Given the description of an element on the screen output the (x, y) to click on. 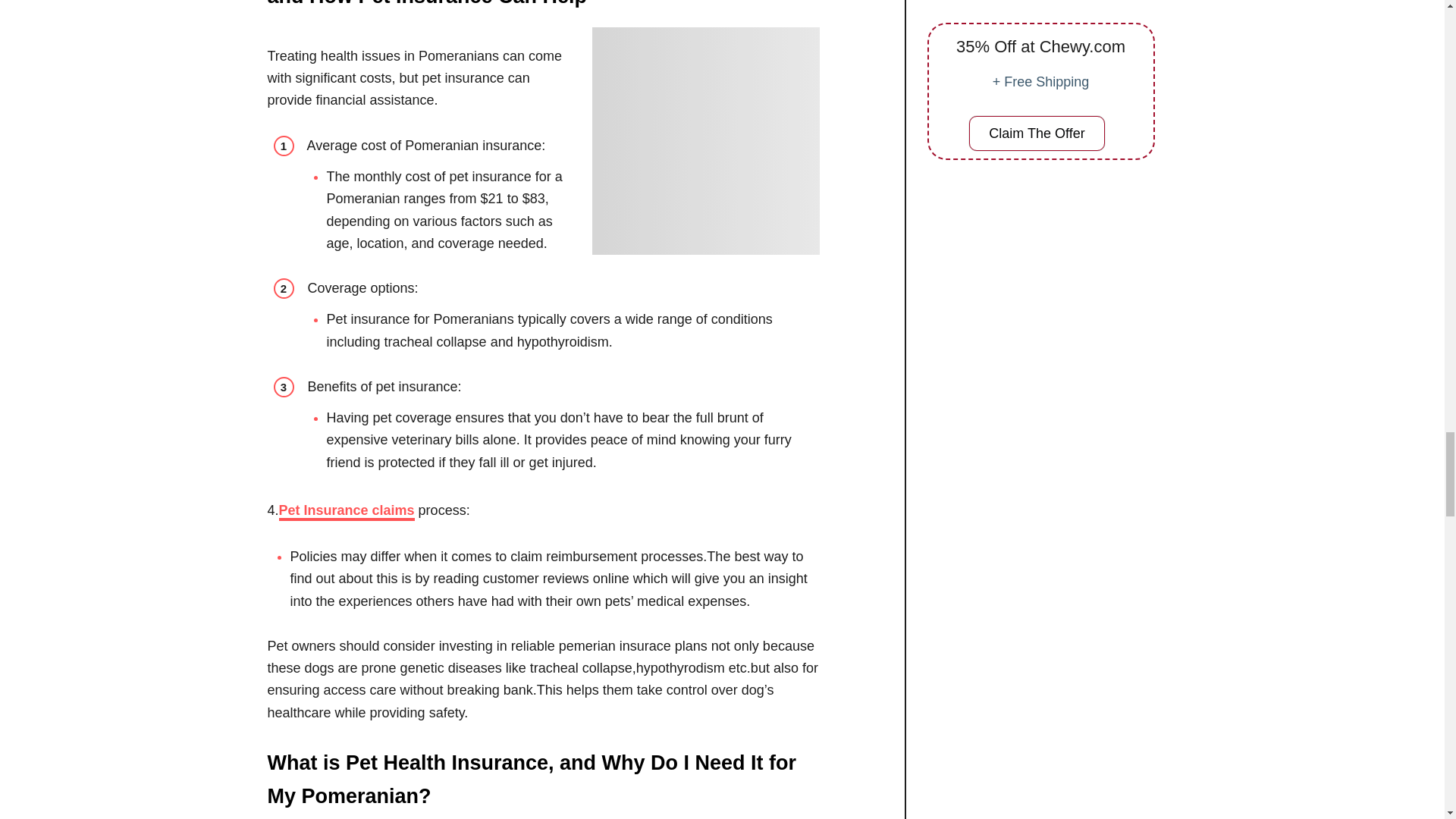
Pet Insurance claims (346, 511)
